Given the description of an element on the screen output the (x, y) to click on. 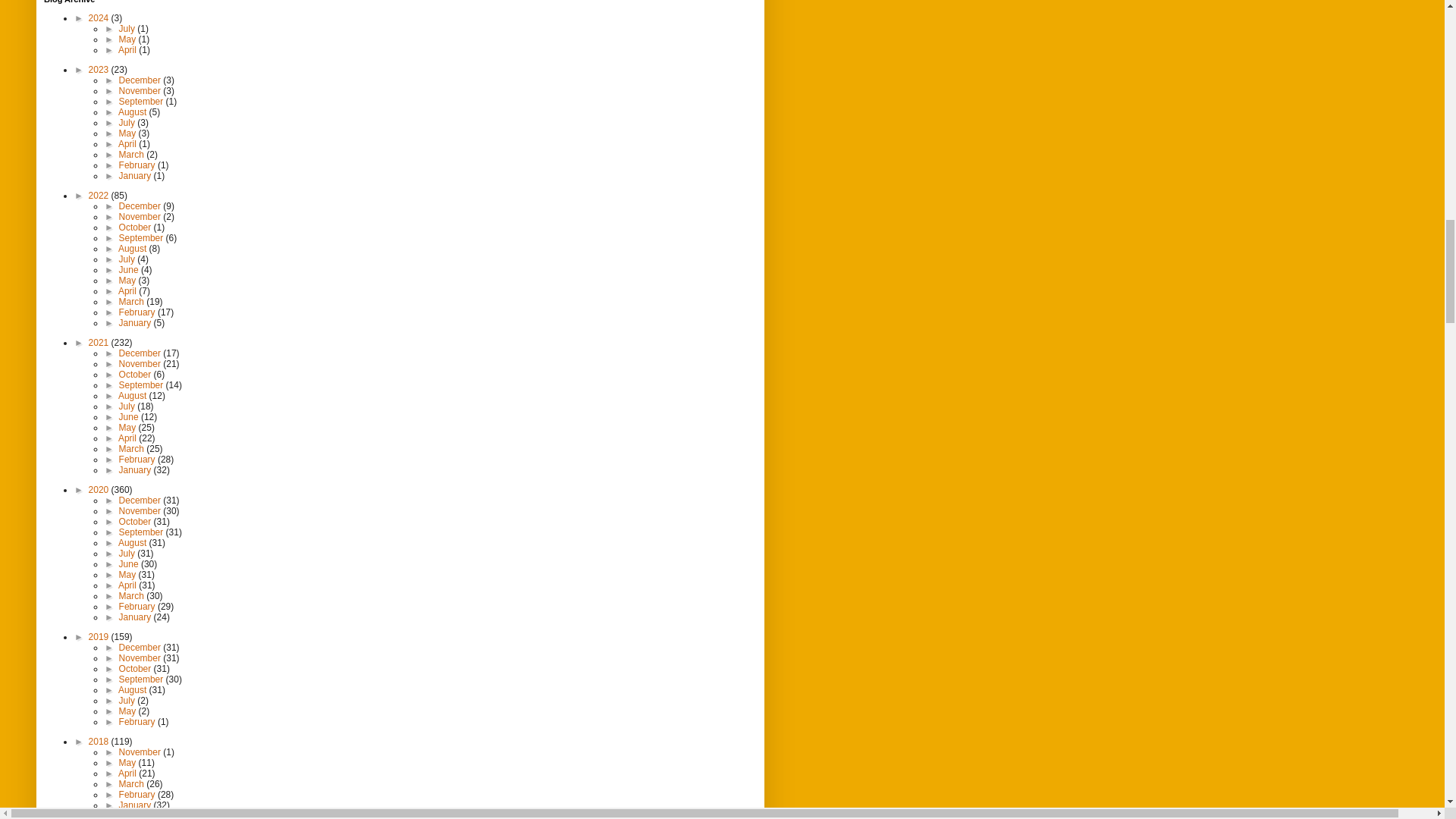
2024 (100, 18)
